Given the description of an element on the screen output the (x, y) to click on. 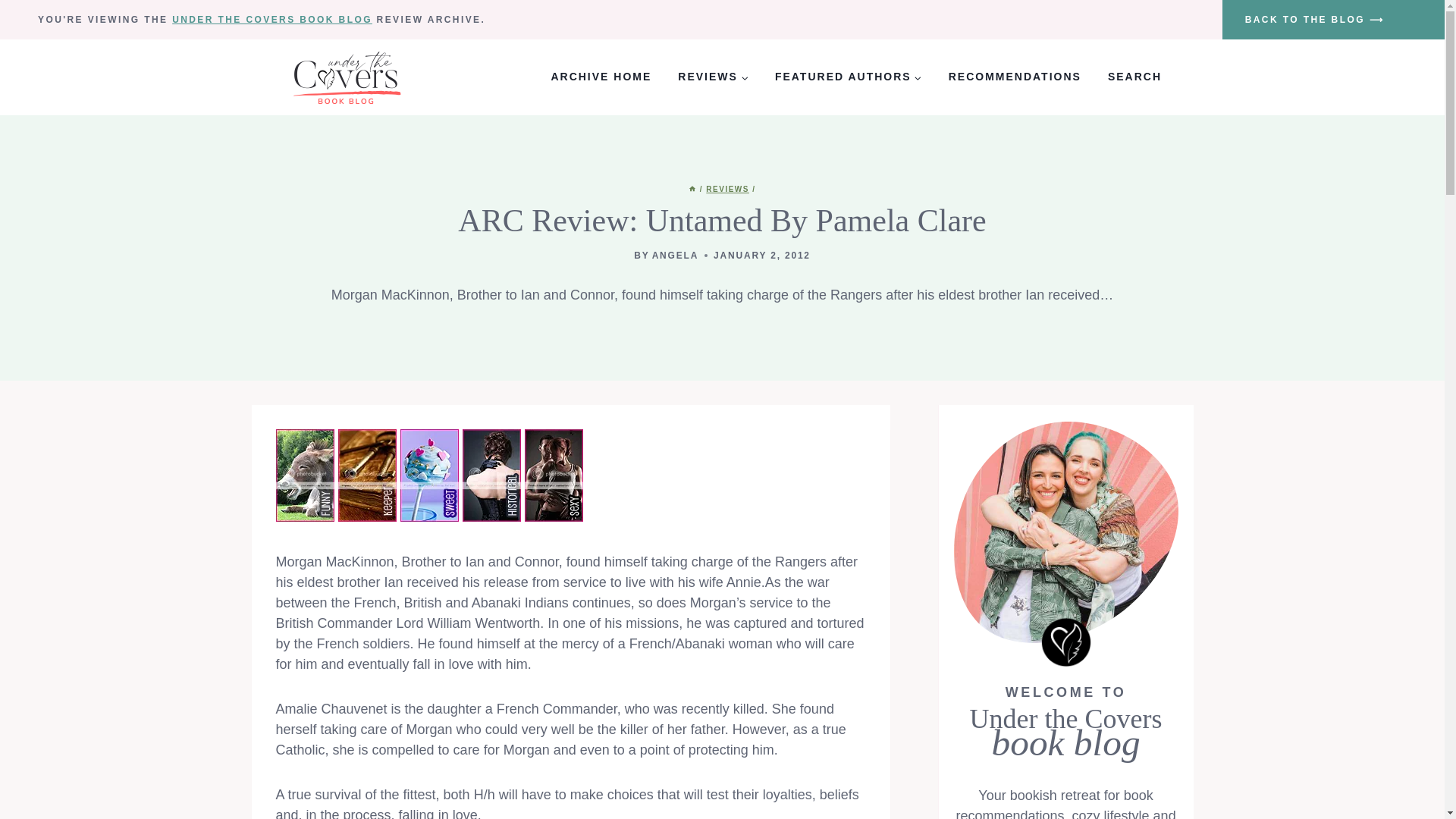
ANGELA (675, 255)
ARCHIVE HOME (601, 77)
UNDER THE COVERS BOOK BLOG (271, 19)
SEARCH (1134, 77)
FEATURED AUTHORS (847, 77)
Home (691, 189)
REVIEWS (727, 189)
REVIEWS (713, 77)
RECOMMENDATIONS (1014, 77)
